Given the description of an element on the screen output the (x, y) to click on. 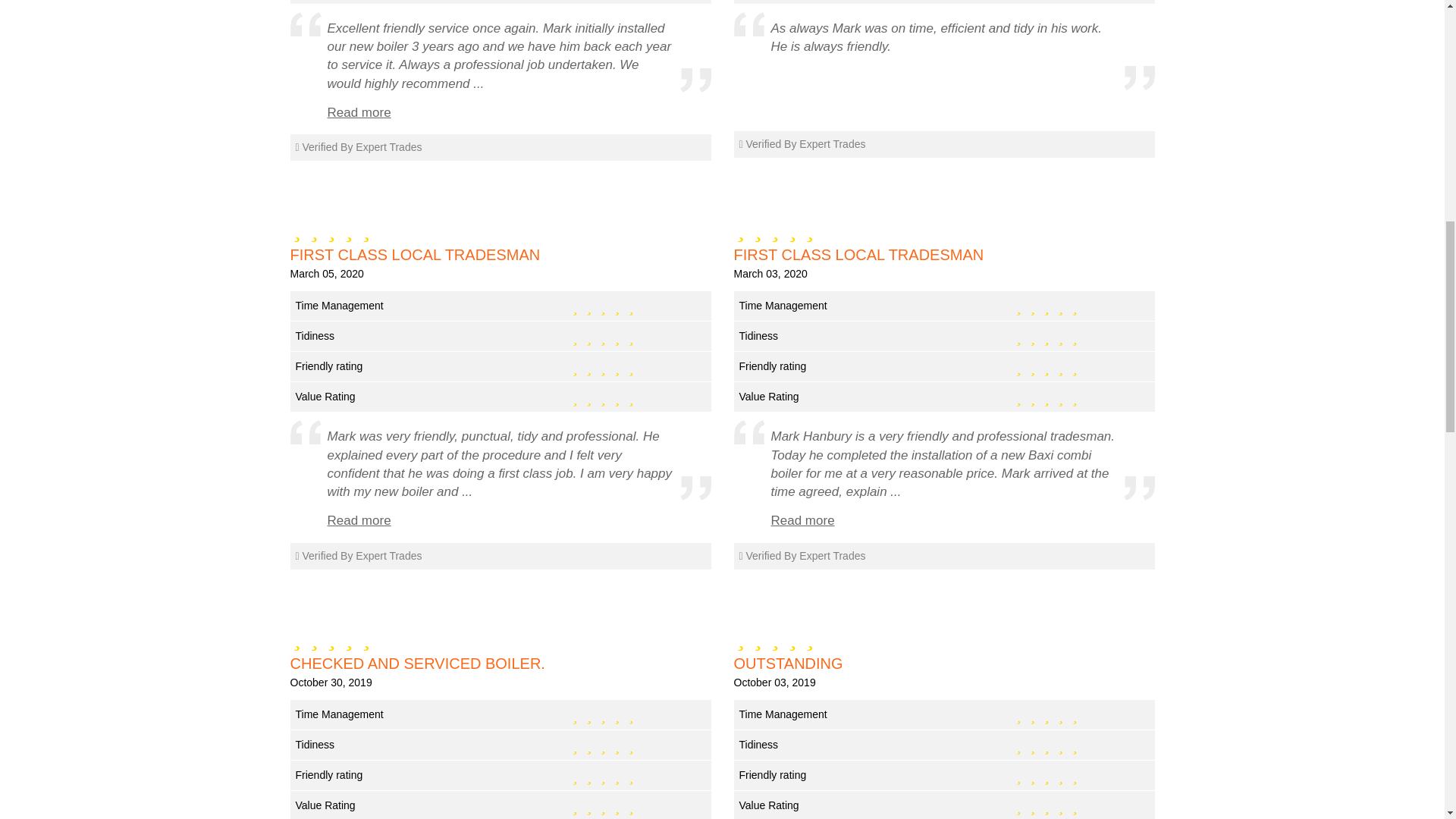
Read more (802, 520)
Read more (359, 112)
FIRST CLASS LOCAL TRADESMAN (943, 254)
Read more (359, 520)
FIRST CLASS LOCAL TRADESMAN (499, 254)
CHECKED AND SERVICED BOILER. (499, 663)
OUTSTANDING (943, 663)
